Given the description of an element on the screen output the (x, y) to click on. 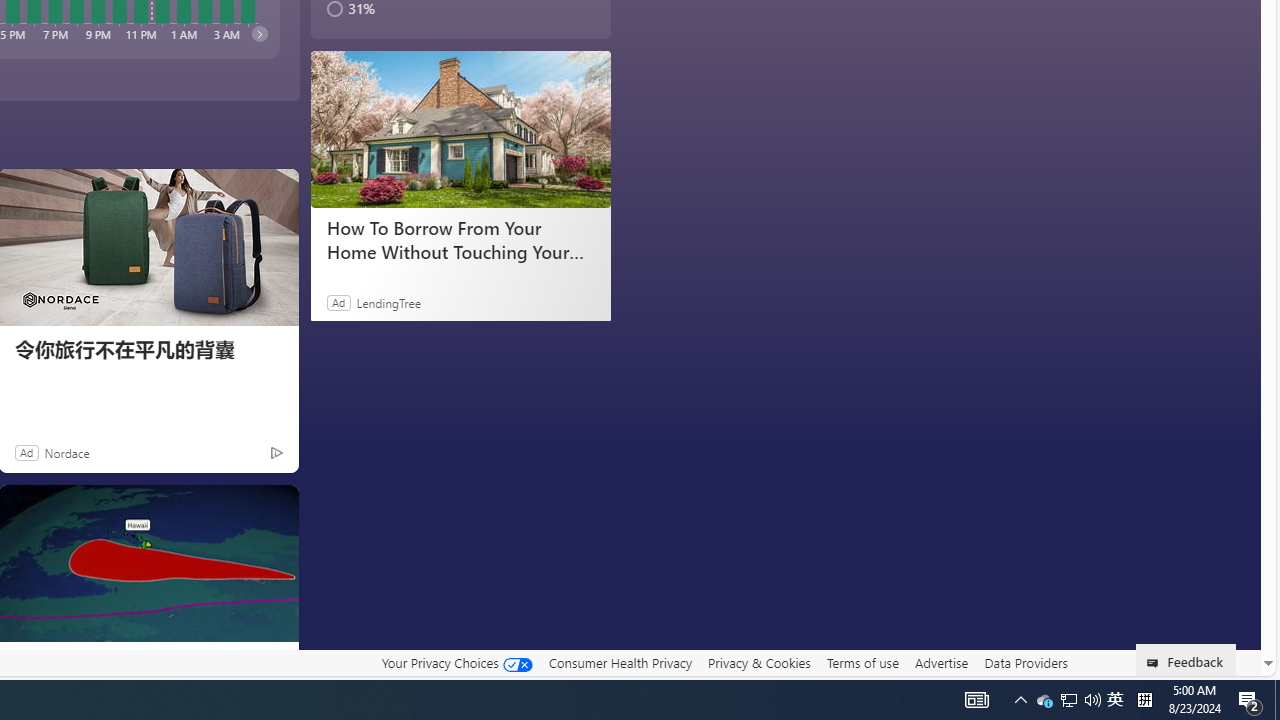
Data Providers (1025, 662)
The Weather Channel (22, 661)
next (258, 33)
